Given the description of an element on the screen output the (x, y) to click on. 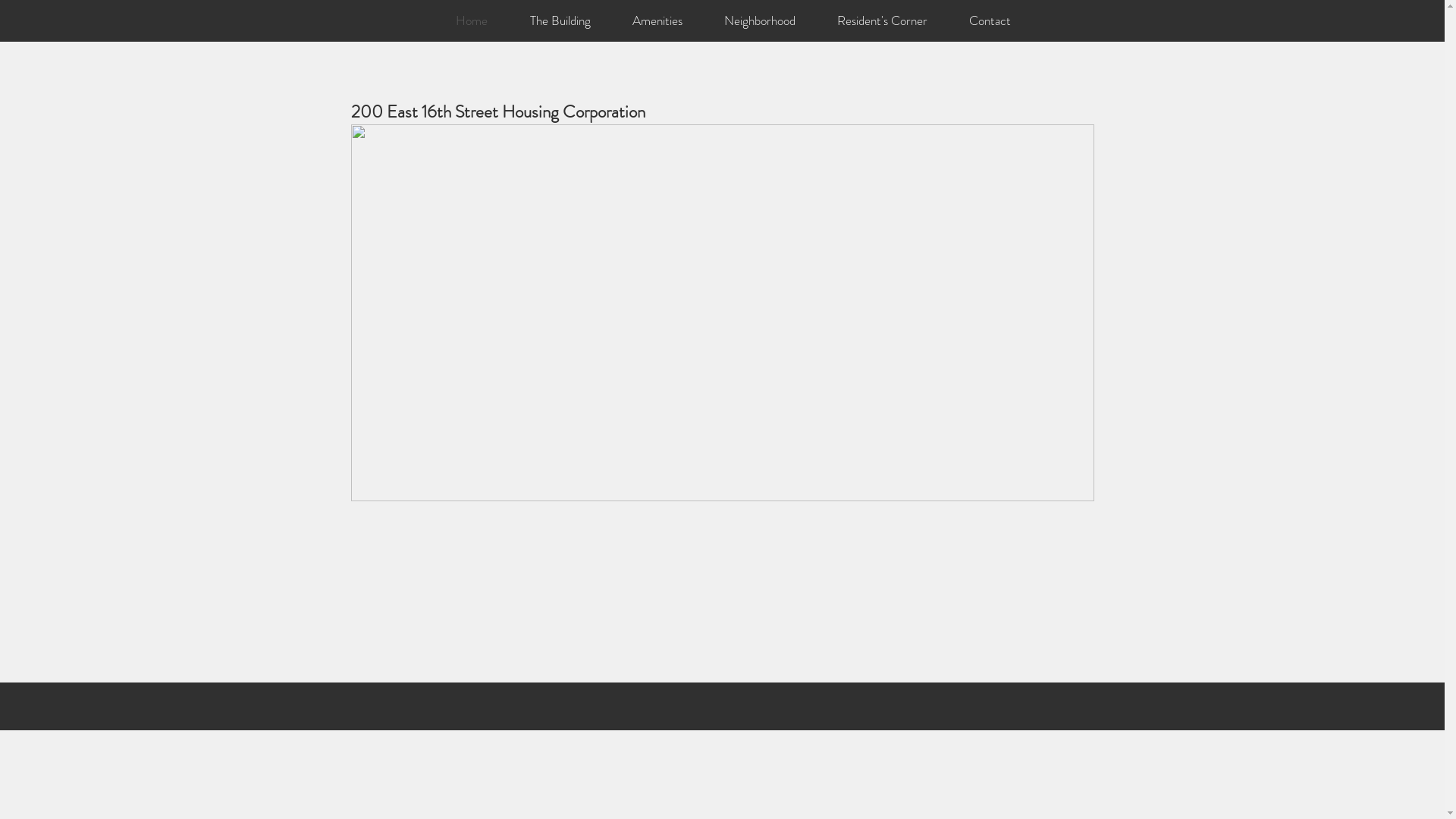
The Building Element type: text (559, 20)
Neighborhood Element type: text (759, 20)
Home Element type: text (470, 20)
Resident's Corner Element type: text (881, 20)
Contact Element type: text (989, 20)
Amenities Element type: text (656, 20)
